Given the description of an element on the screen output the (x, y) to click on. 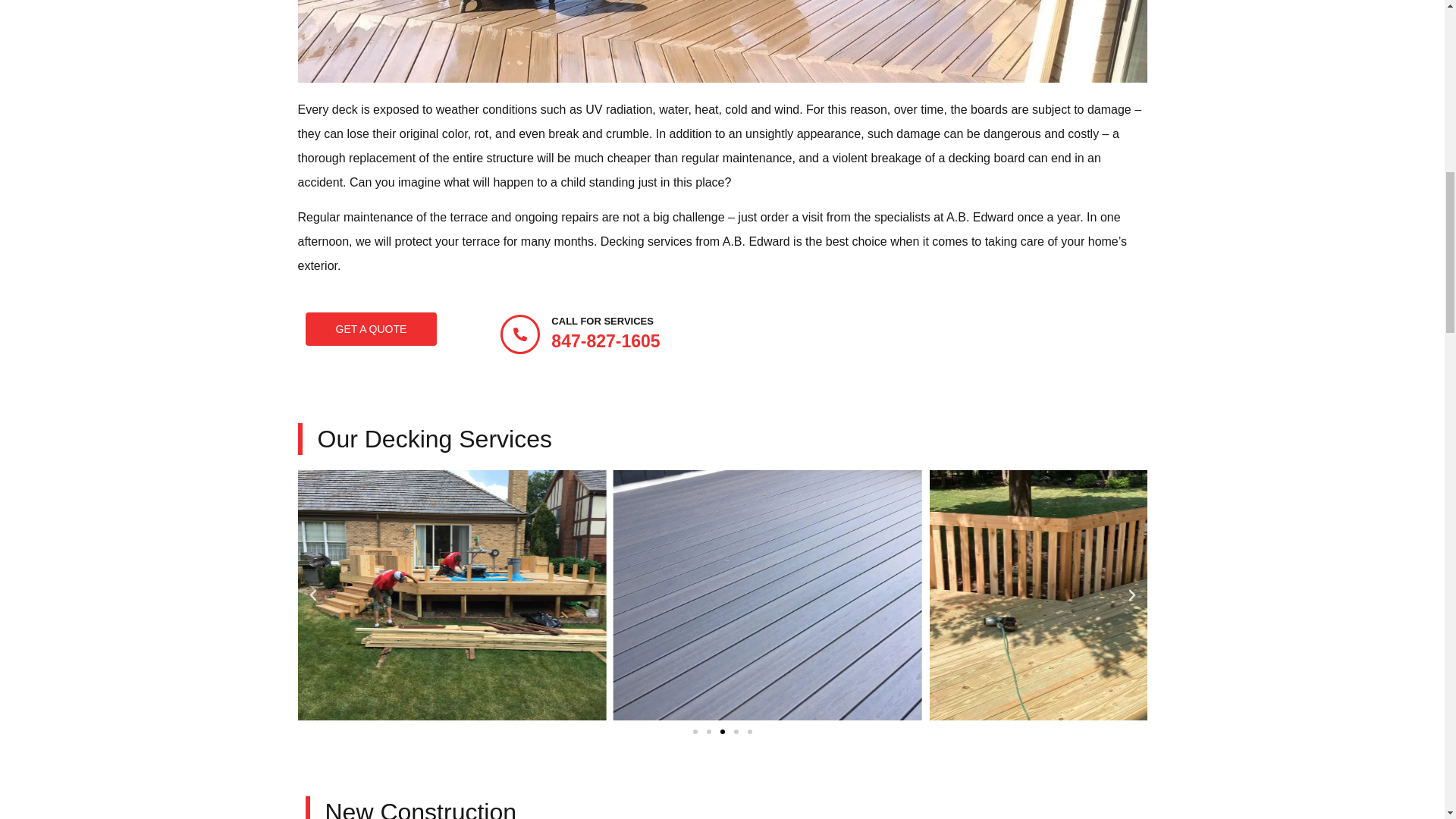
Temperature Considerations (722, 40)
